Given the description of an element on the screen output the (x, y) to click on. 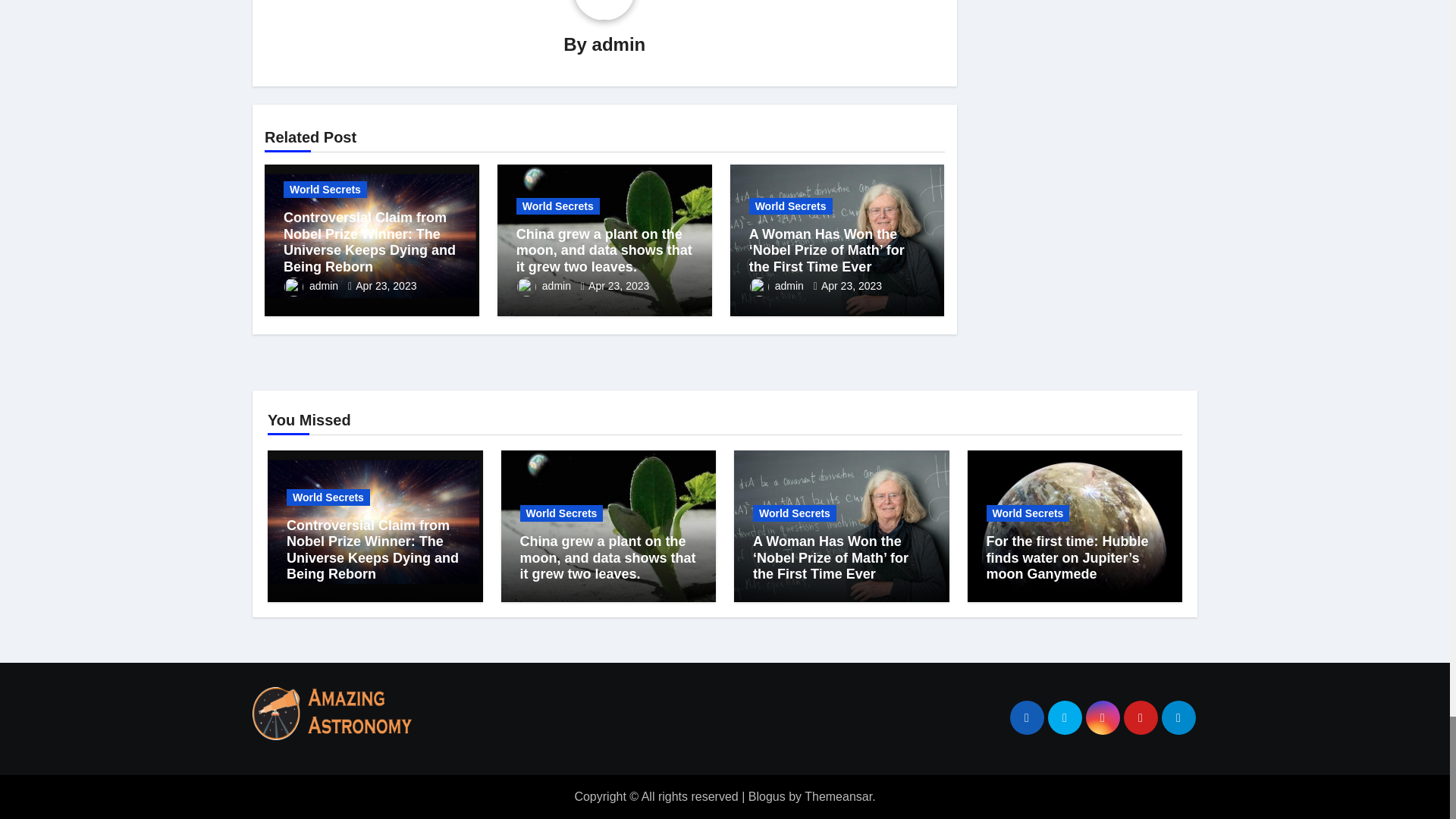
admin (619, 44)
